Given the description of an element on the screen output the (x, y) to click on. 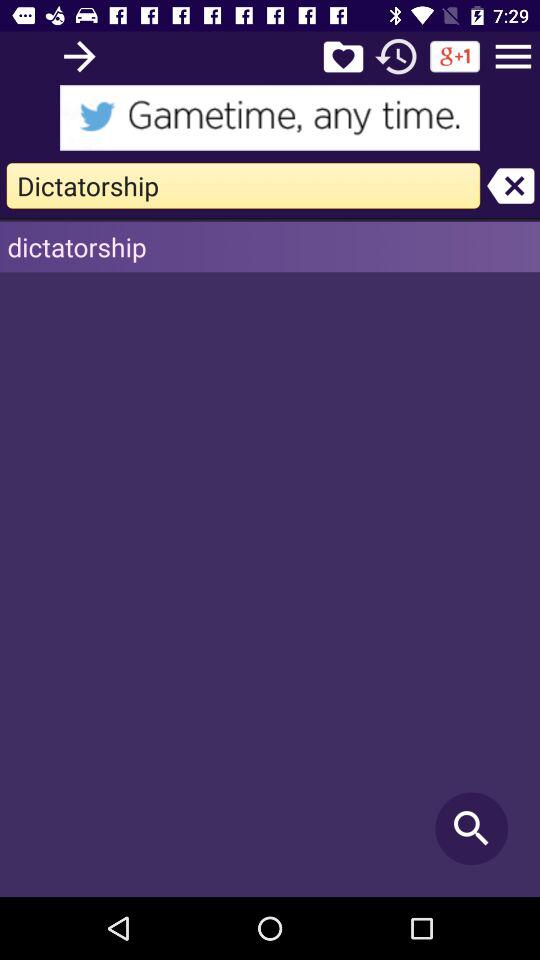
view favorites (343, 56)
